Given the description of an element on the screen output the (x, y) to click on. 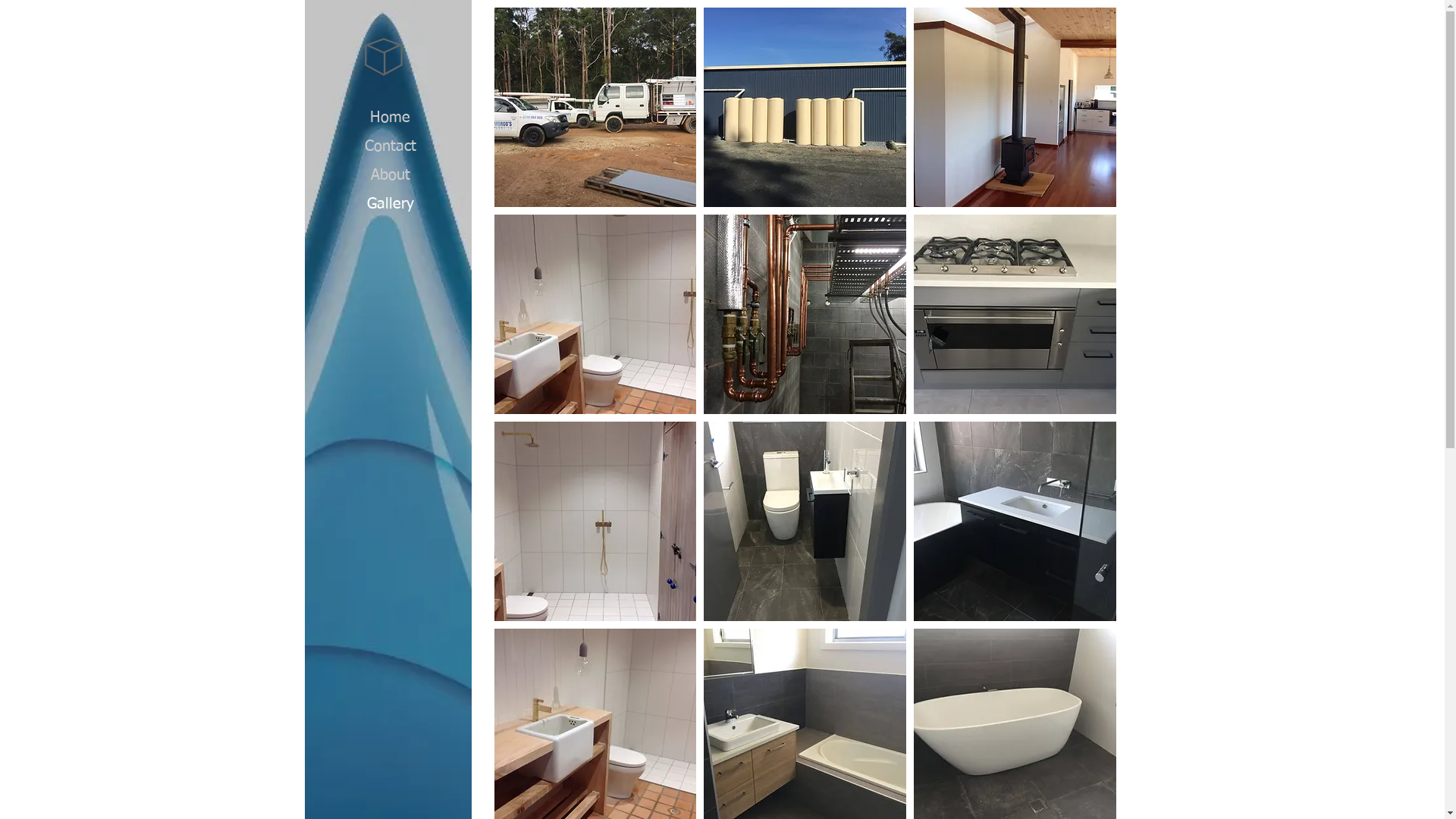
Gallery Element type: text (390, 204)
Contact Element type: text (389, 146)
Home Element type: text (389, 117)
About Element type: text (389, 175)
